Given the description of an element on the screen output the (x, y) to click on. 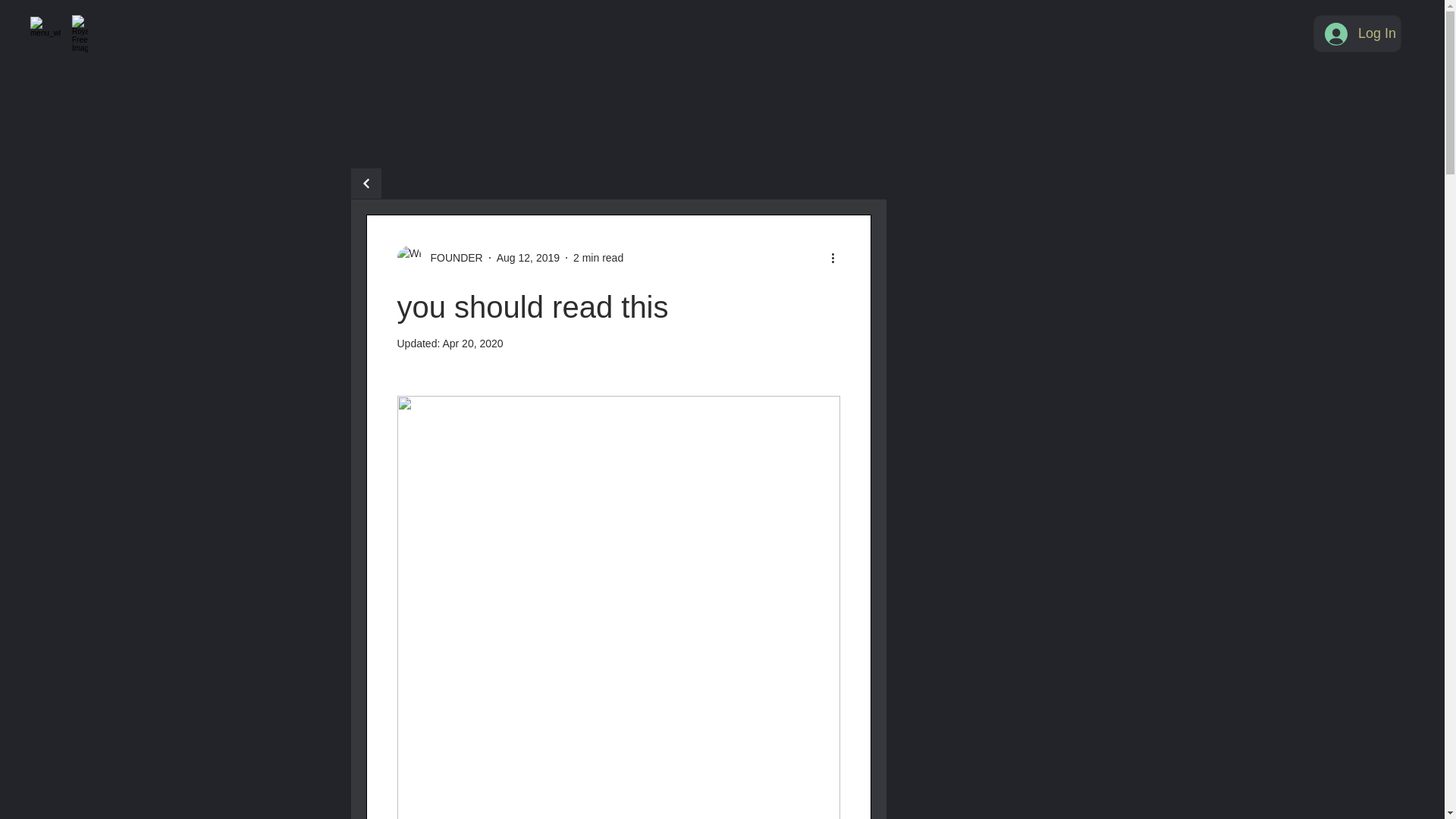
Aug 12, 2019 (527, 257)
Apr 20, 2020 (472, 343)
Log In (1357, 33)
FOUNDER (452, 258)
FOUNDER (440, 257)
2 min read (598, 257)
